Given the description of an element on the screen output the (x, y) to click on. 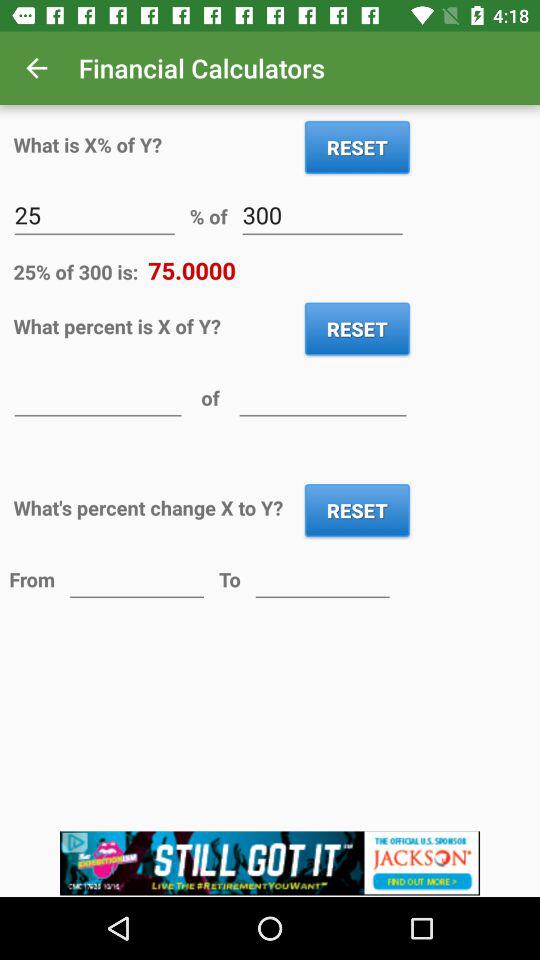
previous (136, 578)
